Given the description of an element on the screen output the (x, y) to click on. 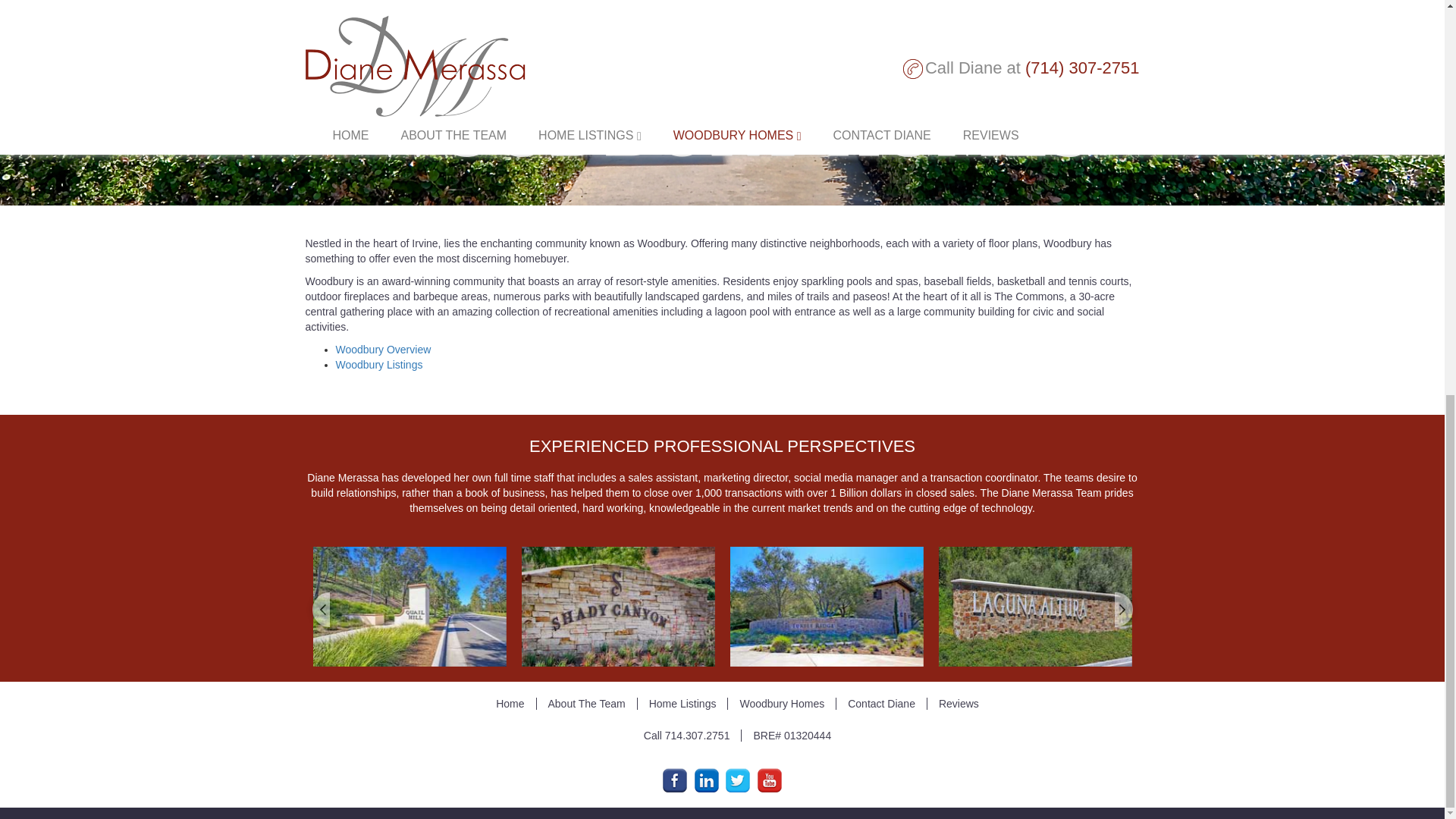
Call 714.307.2751 (686, 735)
Woodbury Overview (382, 349)
Woodbury Homes (781, 703)
About The Team (587, 703)
Home (509, 703)
Reviews (958, 703)
Contact Diane (881, 703)
Home Listings (683, 703)
Woodbury Listings (378, 364)
